Given the description of an element on the screen output the (x, y) to click on. 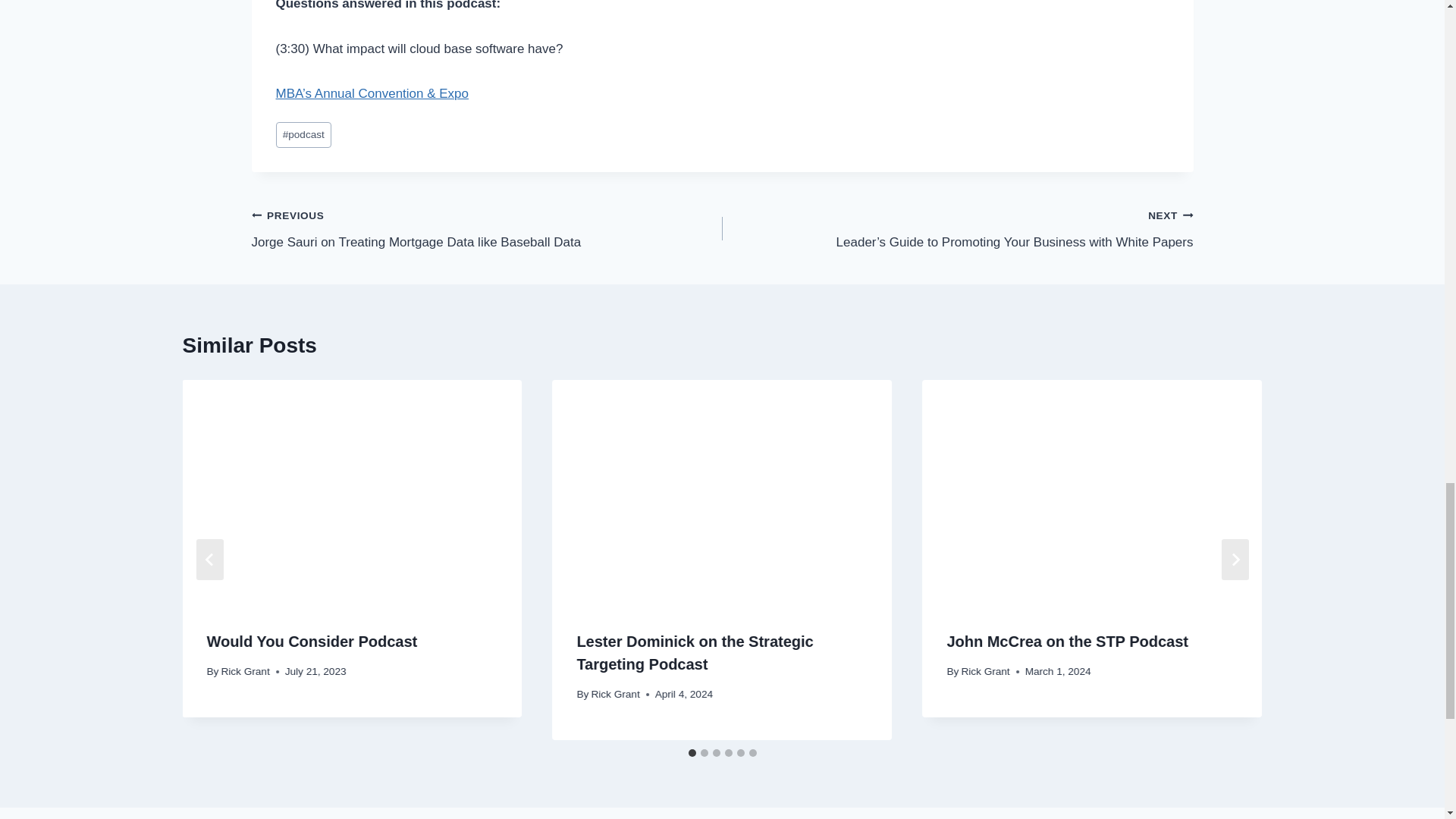
podcast (303, 135)
